Given the description of an element on the screen output the (x, y) to click on. 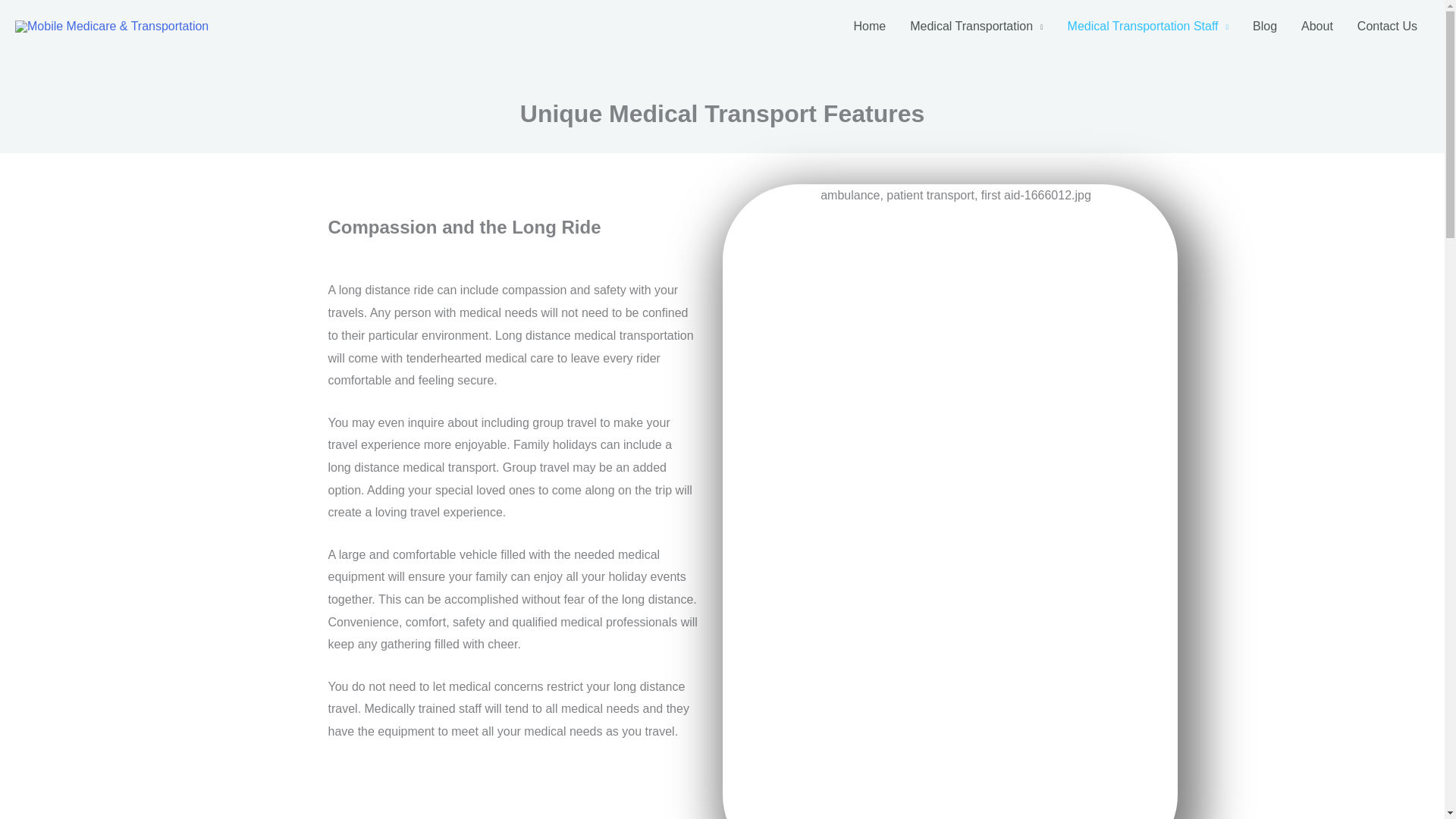
Home (869, 26)
Medical Transportation (976, 26)
Contact Us (1387, 26)
Blog (1264, 26)
About (1316, 26)
Medical Transportation Staff (1147, 26)
